Given the description of an element on the screen output the (x, y) to click on. 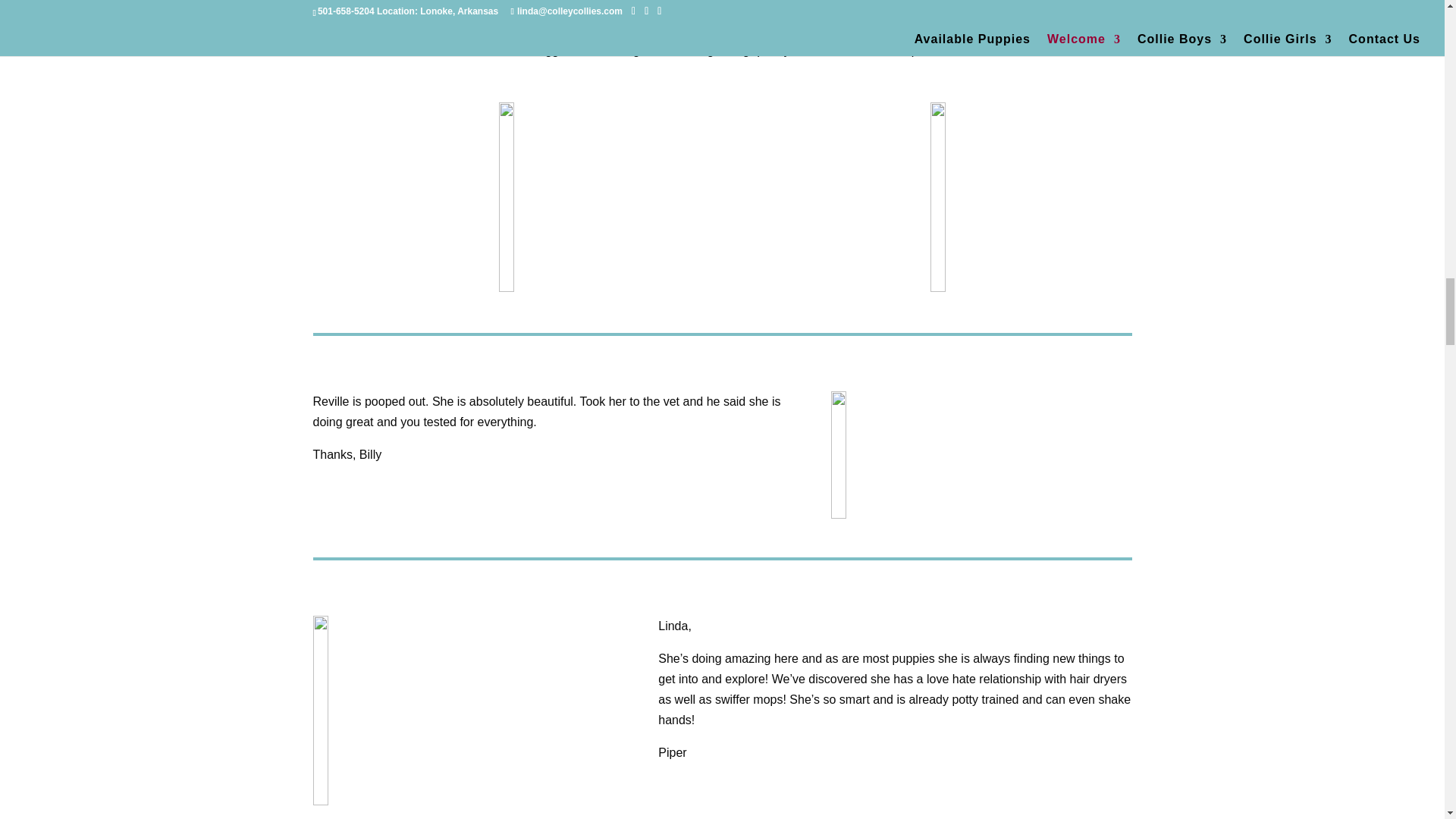
5-LorraineMaggie1 (506, 196)
6-billyReville (894, 454)
7-Piper (407, 710)
5-LorraineMaggie2 (937, 196)
